Given the description of an element on the screen output the (x, y) to click on. 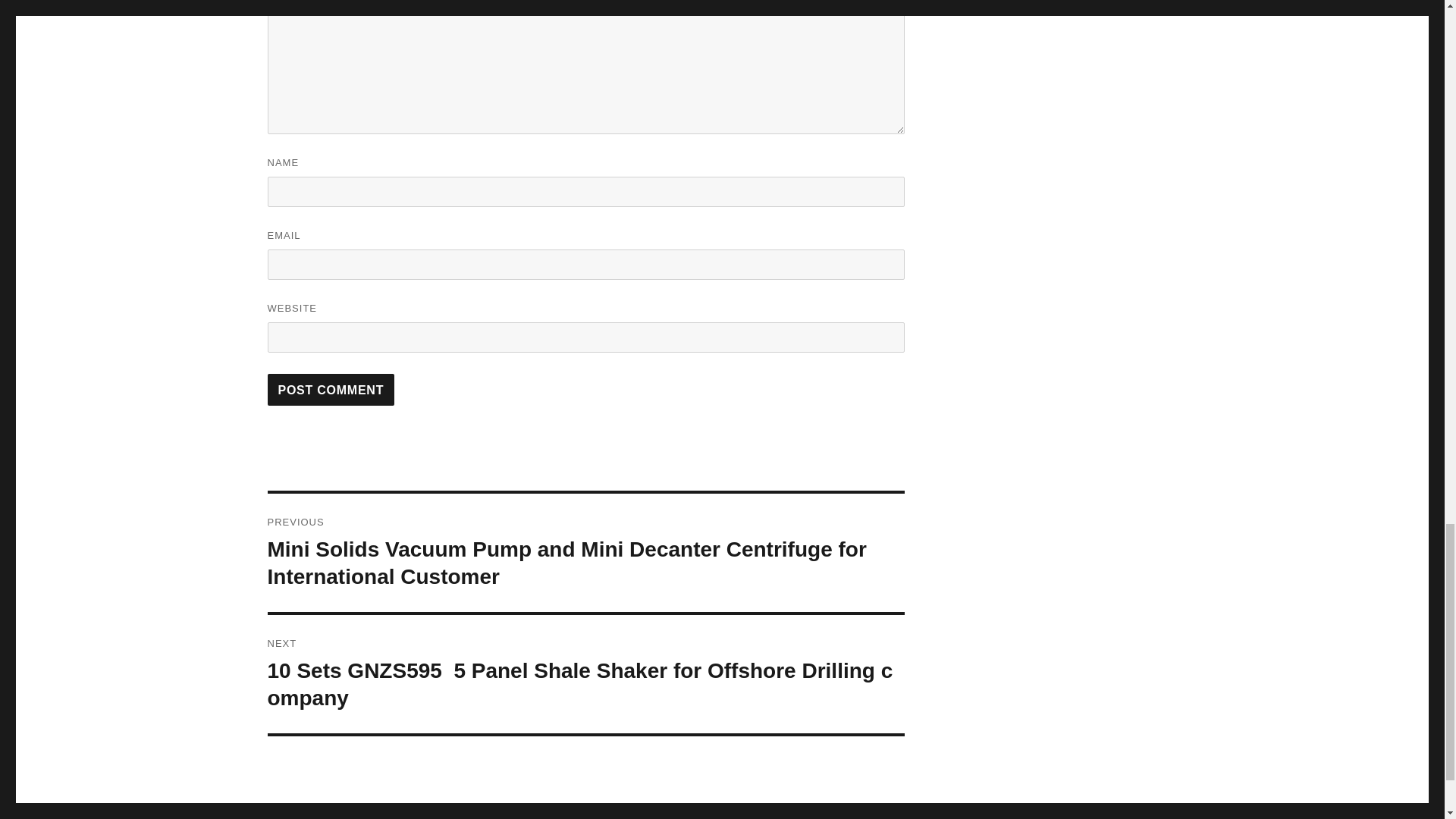
Post Comment (330, 389)
Post Comment (330, 389)
